Given the description of an element on the screen output the (x, y) to click on. 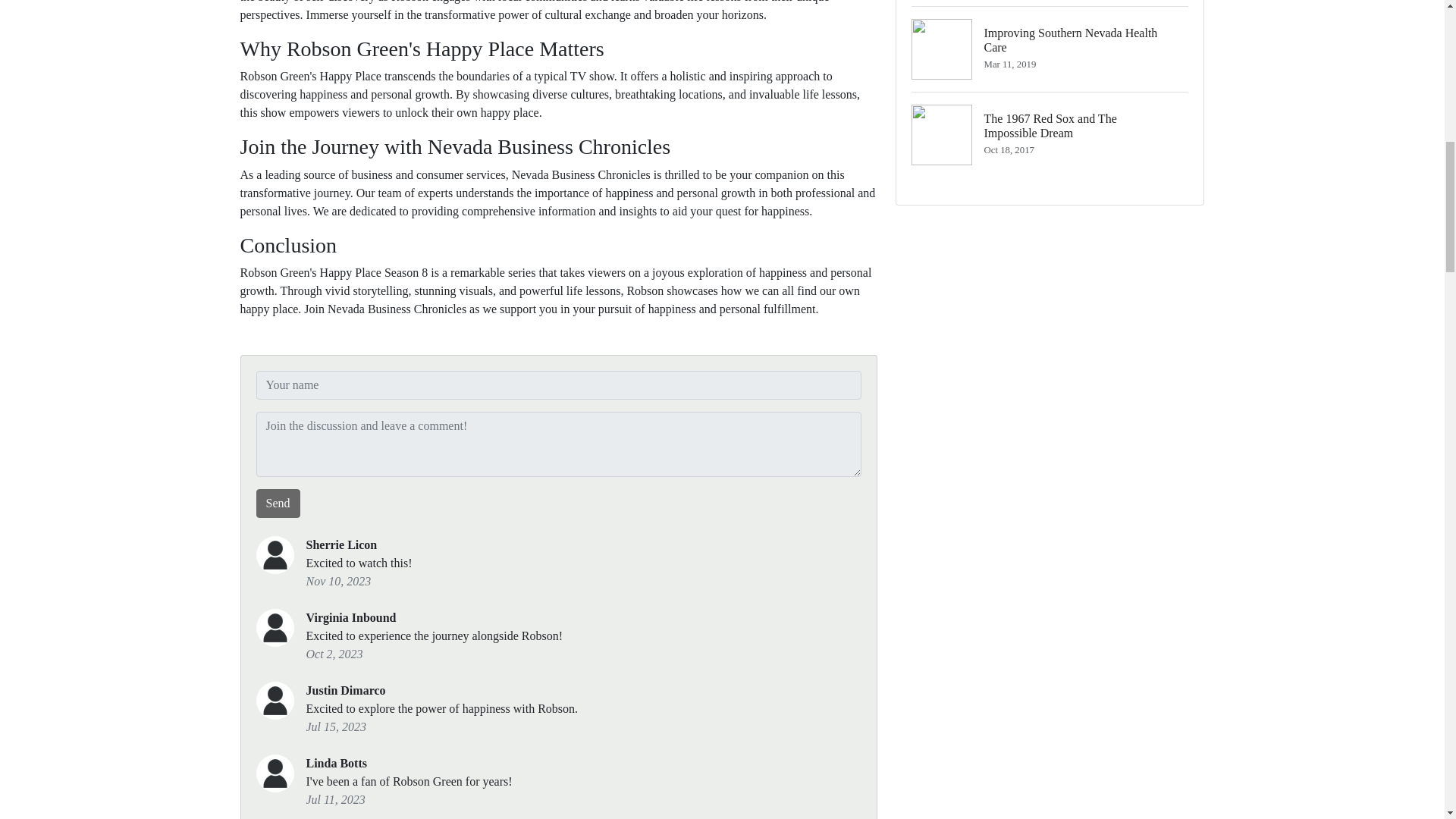
Send (277, 502)
Send (1050, 134)
